Given the description of an element on the screen output the (x, y) to click on. 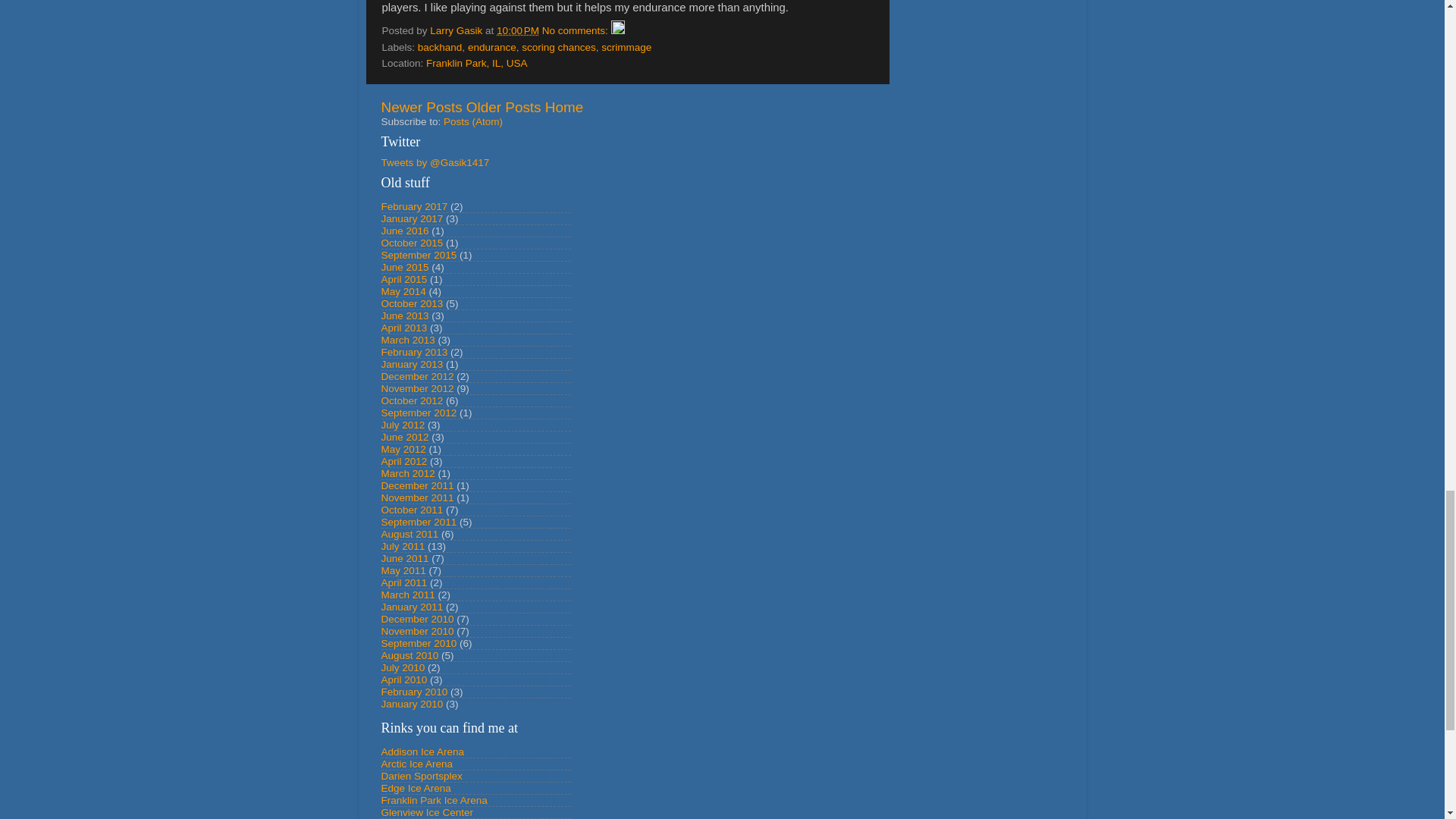
Newer Posts (420, 107)
author profile (456, 30)
scrimmage (625, 47)
No comments: (576, 30)
Larry Gasik (456, 30)
Newer Posts (420, 107)
Older Posts (503, 107)
permanent link (517, 30)
Edit Post (617, 30)
Home (563, 107)
backhand (440, 47)
Older Posts (503, 107)
Franklin Park, IL, USA (476, 62)
scoring chances (558, 47)
